Given the description of an element on the screen output the (x, y) to click on. 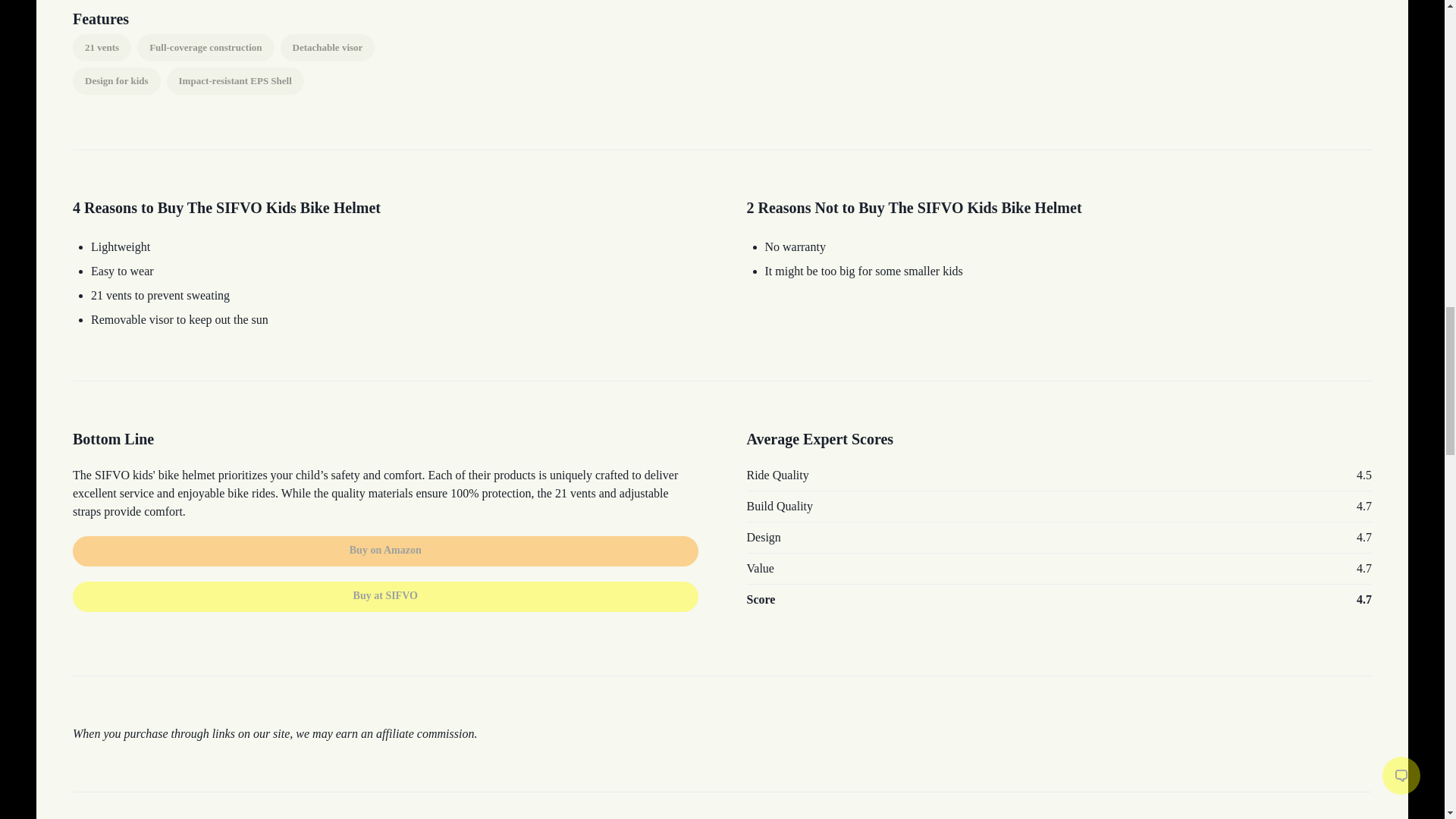
Impact-resistant EPS Shell (235, 81)
Full-coverage construction (204, 47)
21 vents (101, 47)
Design for kids (116, 81)
Buy on Amazon (385, 551)
Buy on Amazon (385, 549)
Detachable visor (328, 47)
Buy at SIFVO (385, 586)
Buy at SIFVO (385, 596)
